Given the description of an element on the screen output the (x, y) to click on. 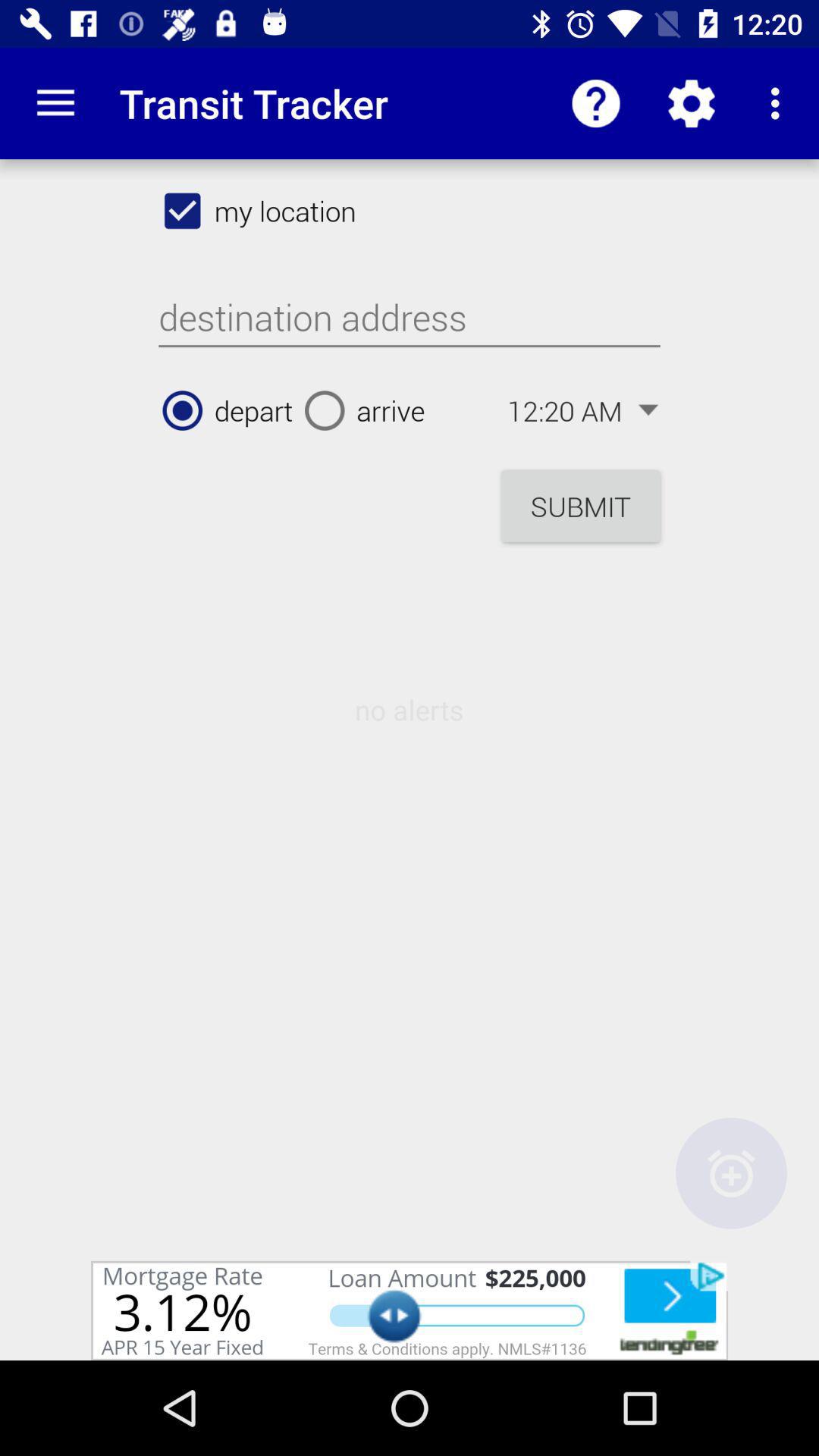
open advertisement (409, 1310)
